Given the description of an element on the screen output the (x, y) to click on. 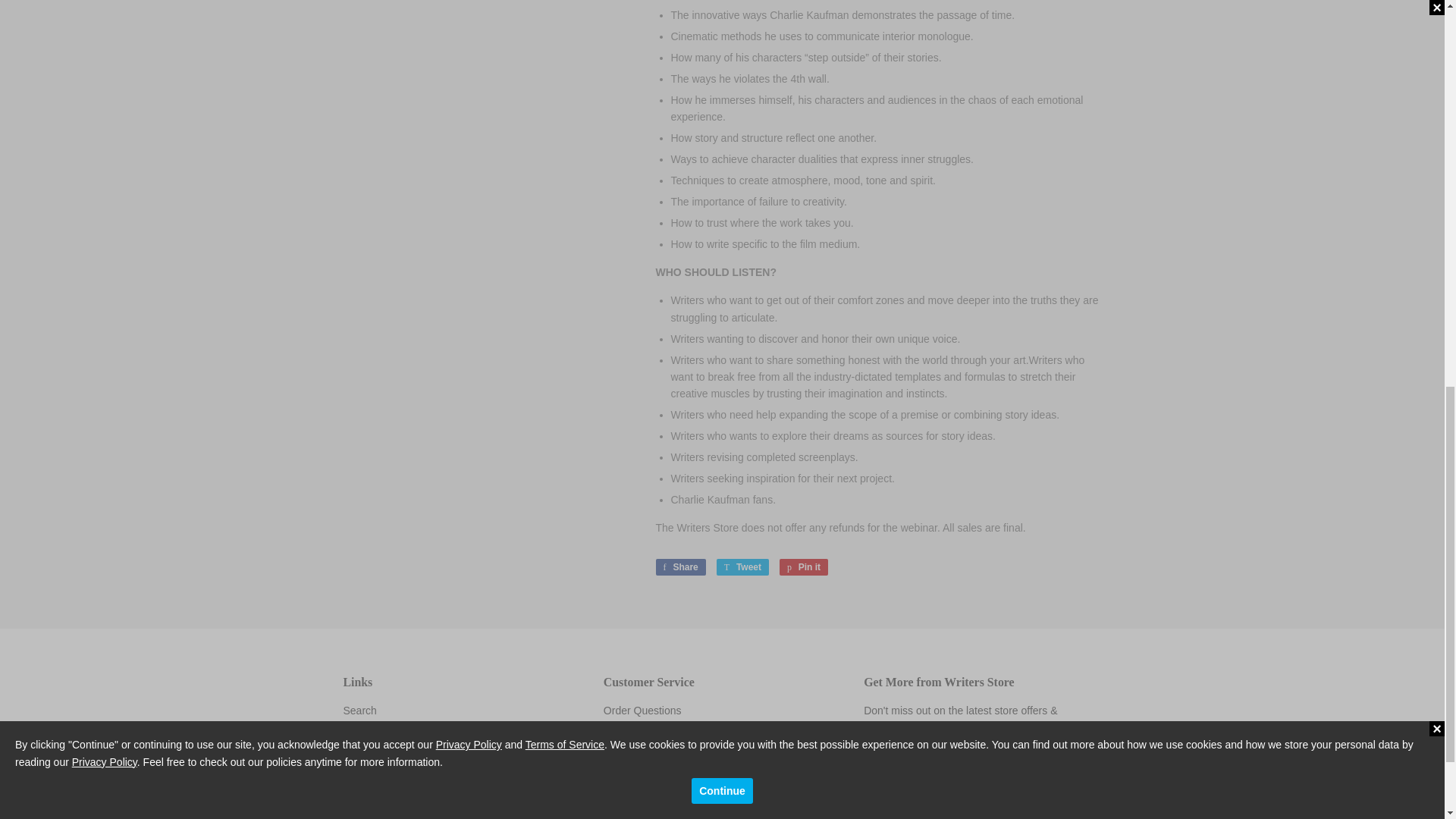
Tweet on Twitter (742, 566)
Pin on Pinterest (742, 566)
Script Magazine (803, 566)
SIGN UP (380, 749)
Contact Us (1071, 780)
Share on Facebook (803, 566)
Magazine Self Service (368, 729)
Contact Us (679, 566)
Subscription Questions (658, 727)
Script University Classes (679, 566)
Search (642, 710)
Order Questions (658, 727)
